Given the description of an element on the screen output the (x, y) to click on. 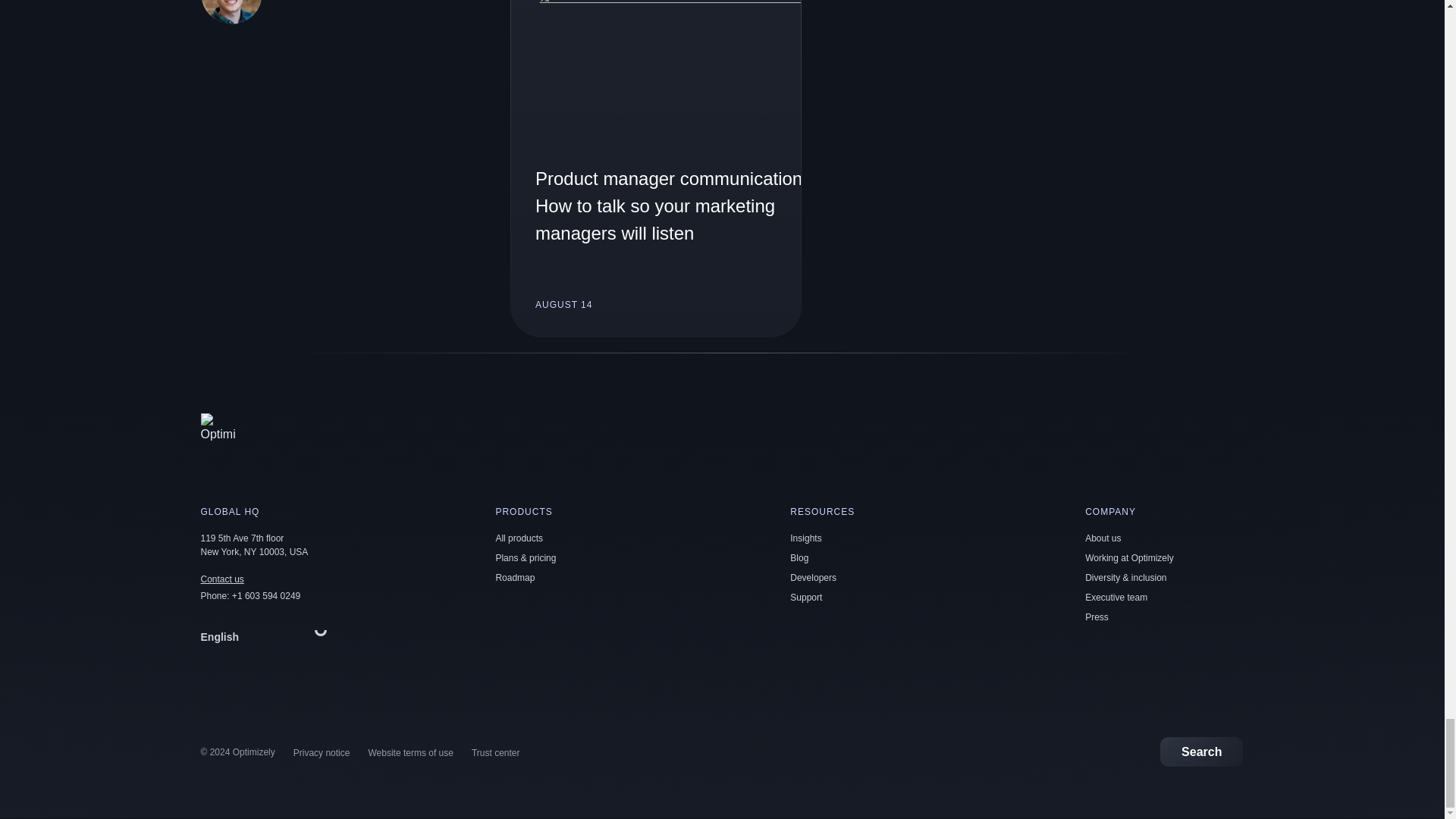
Contact us (221, 579)
English (266, 636)
Contact us (221, 579)
